Given the description of an element on the screen output the (x, y) to click on. 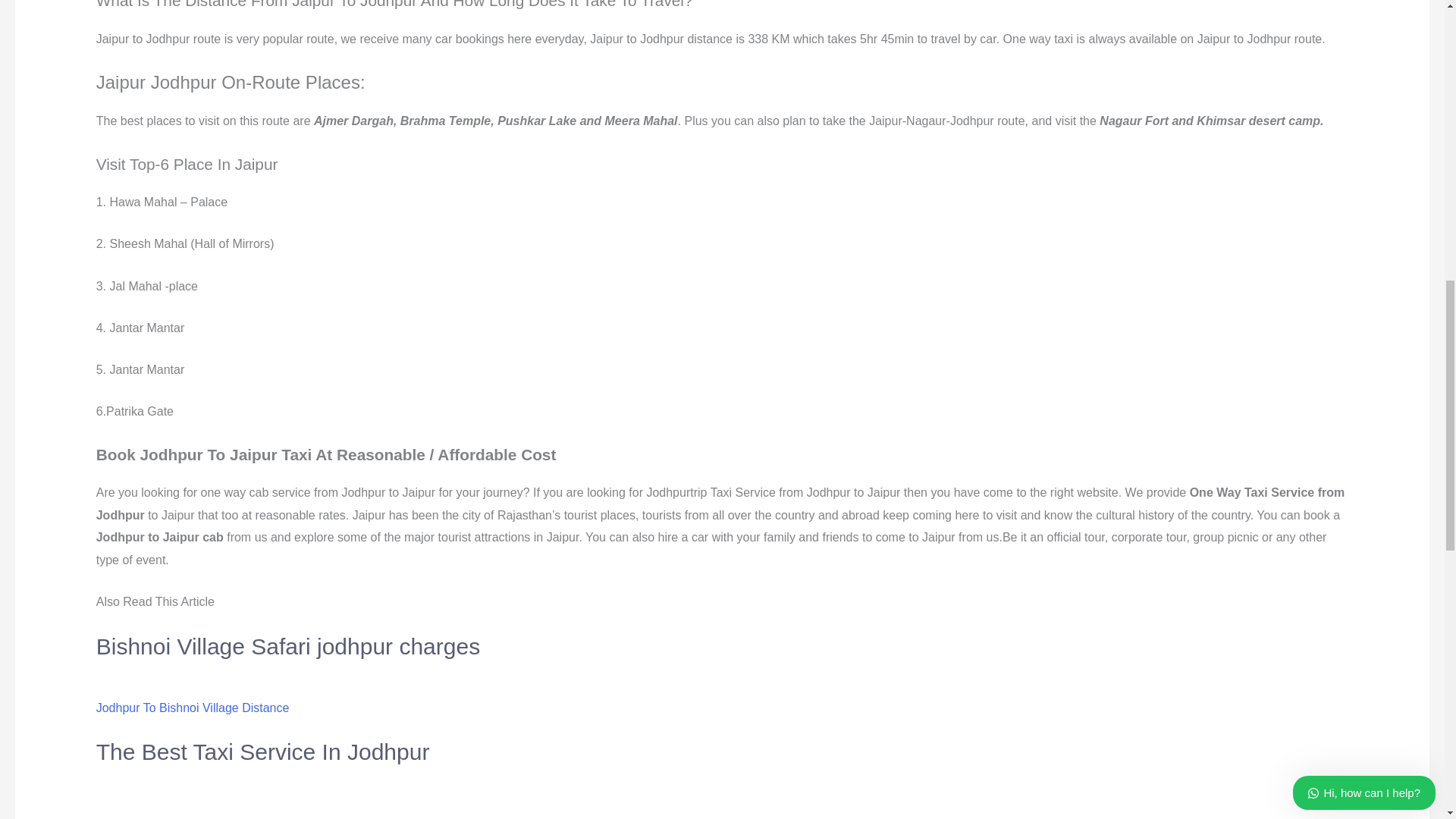
Jodhpur To Bishnoi Village Distance (192, 707)
Bishnoi Village Safari jodhpur charges (288, 646)
The Best Taxi Service In Jodhpur (262, 751)
